Given the description of an element on the screen output the (x, y) to click on. 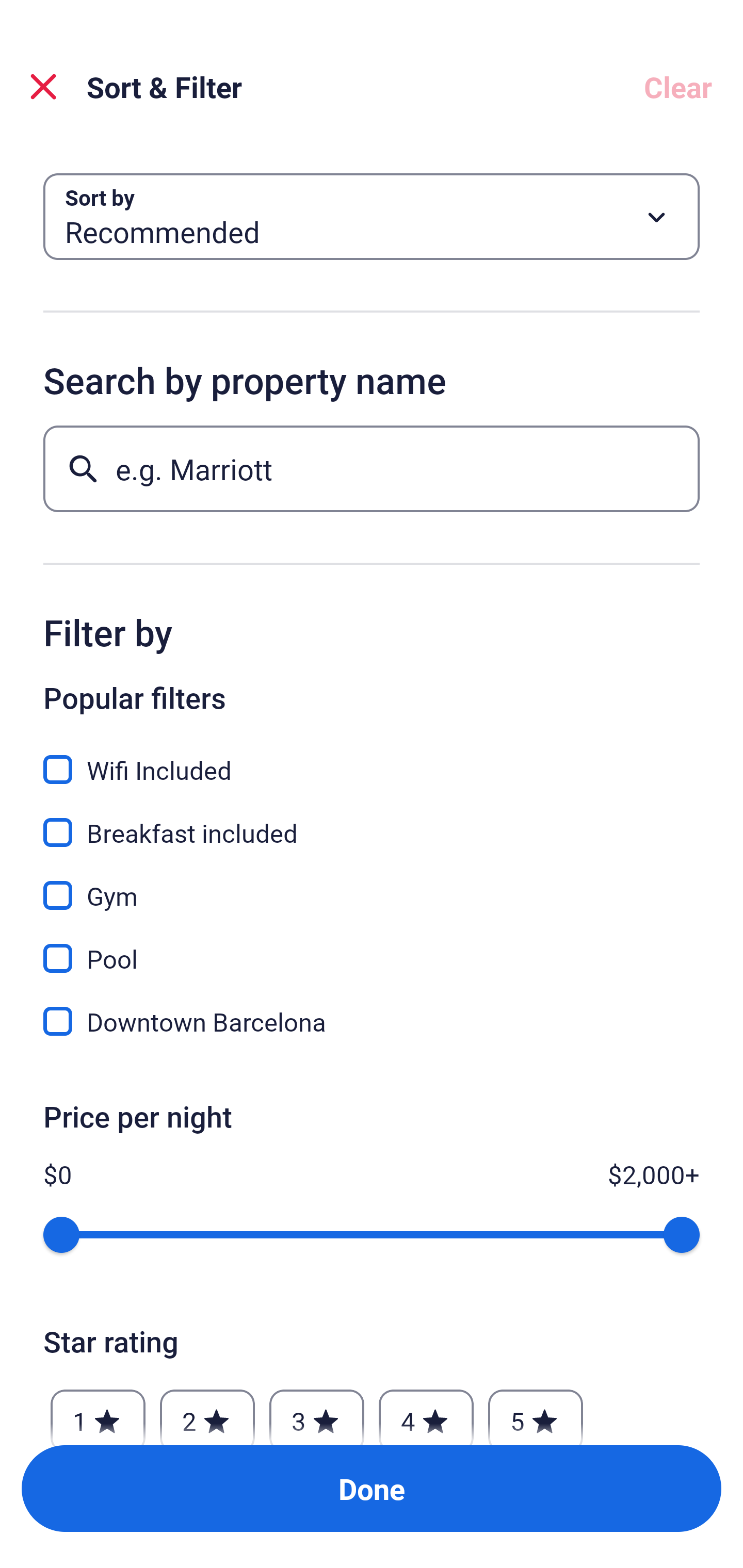
Close Sort and Filter (43, 86)
Clear (677, 86)
Sort by Button Recommended (371, 217)
e.g. Marriott Button (371, 468)
Wifi Included, Wifi Included (371, 757)
Breakfast included, Breakfast included (371, 821)
Gym, Gym (371, 883)
Pool, Pool (371, 946)
Downtown Barcelona, Downtown Barcelona (371, 1021)
1 (97, 1411)
2 (206, 1411)
3 (316, 1411)
4 (426, 1411)
5 (535, 1411)
Apply and close Sort and Filter Done (371, 1488)
